Given the description of an element on the screen output the (x, y) to click on. 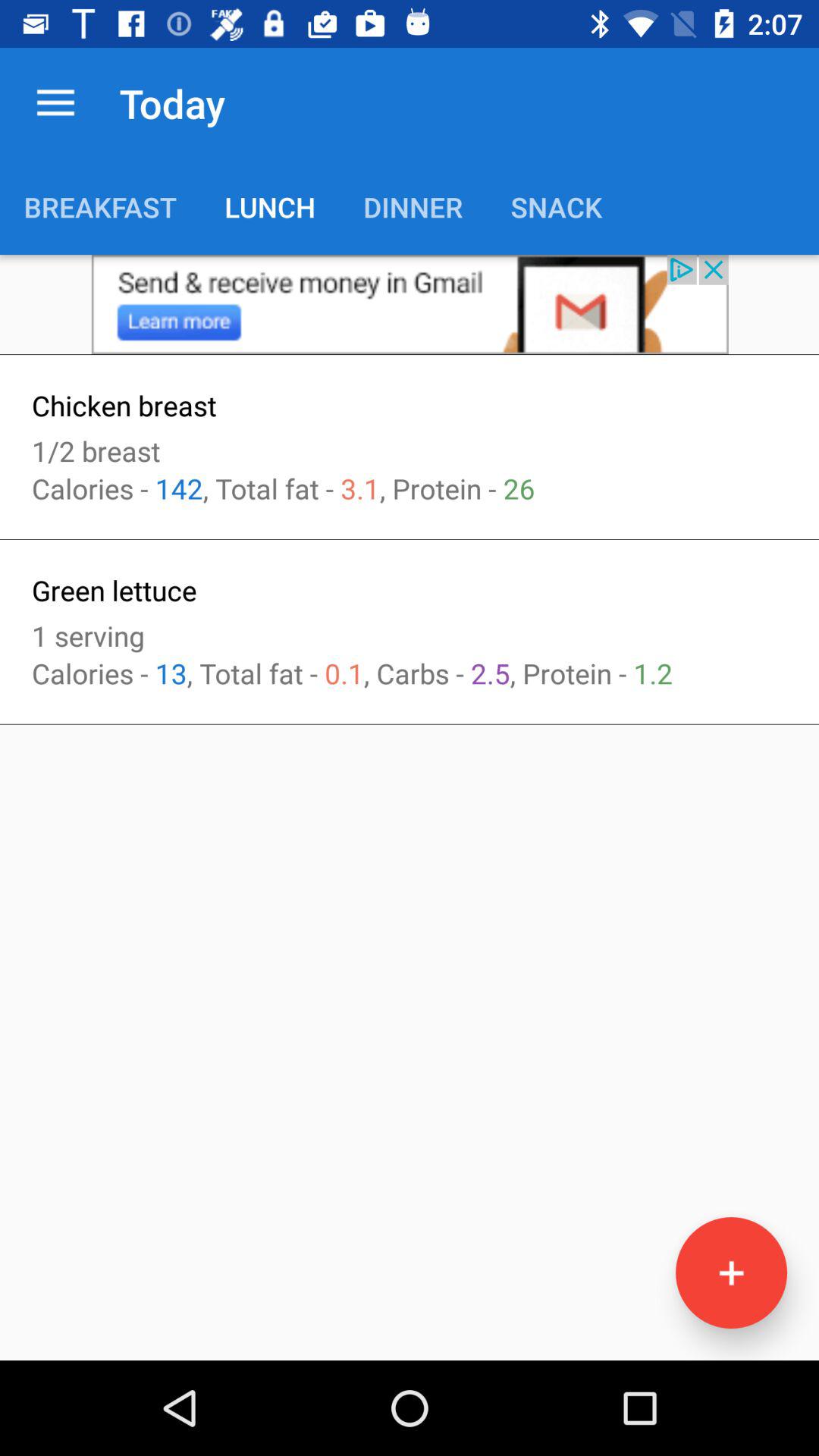
this is an advertisement that takes you to gmail (409, 304)
